Given the description of an element on the screen output the (x, y) to click on. 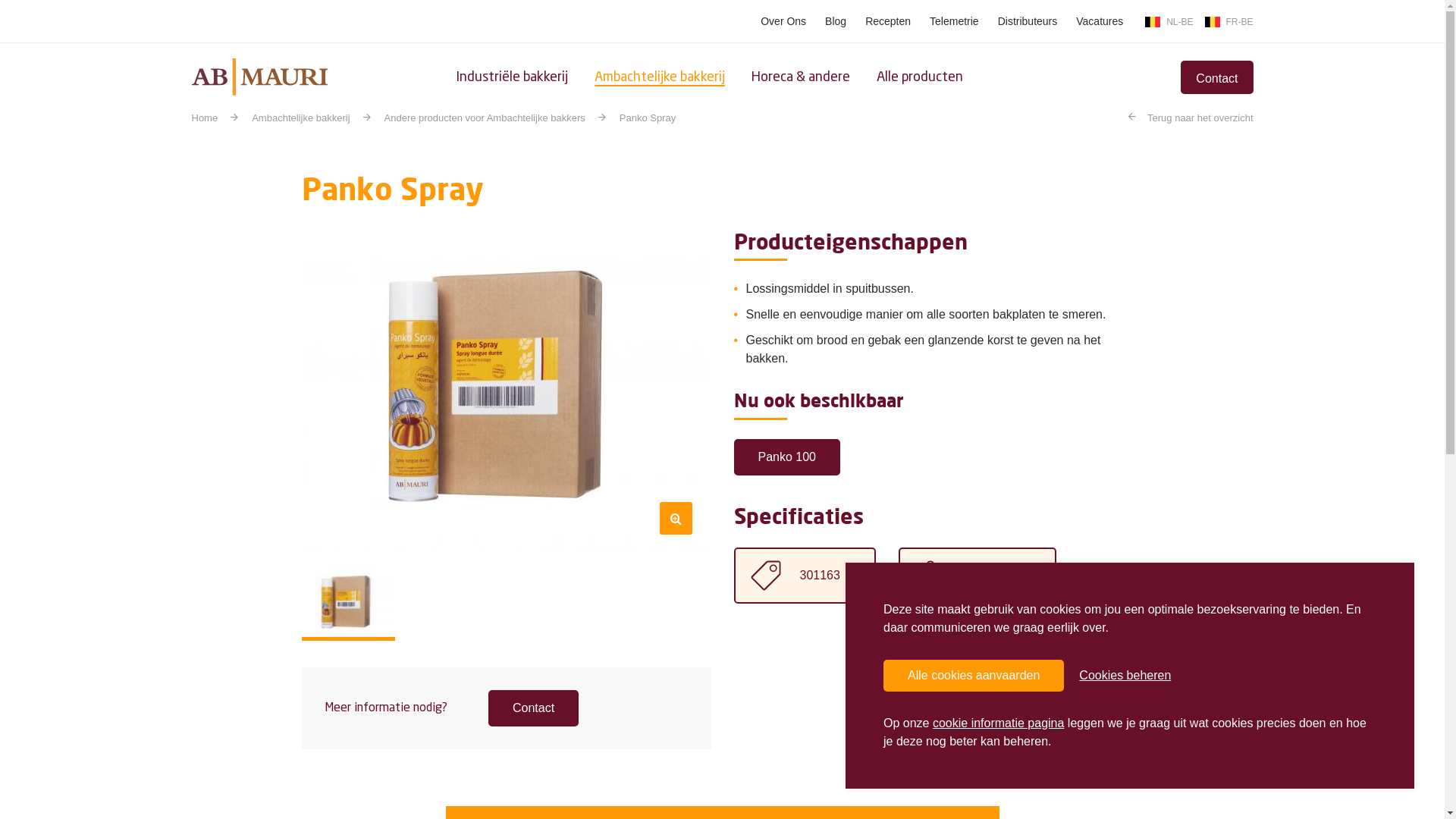
Contact Element type: text (533, 708)
Alle cookies aanvaarden Element type: text (973, 675)
Telemetrie Element type: text (954, 21)
Horeca & andere Element type: text (799, 77)
Terug naar het overzicht Element type: text (1190, 117)
Ambachtelijke bakkerij Element type: text (659, 77)
Distributeurs Element type: text (1027, 21)
Andere producten voor Ambachtelijke bakkers Element type: text (484, 117)
Panko 100 Element type: text (787, 457)
cookie informatie pagina Element type: text (997, 722)
NL-BE Element type: text (1168, 21)
Blog Element type: text (835, 21)
ab_mauri_panko_spray_600_g_6.jpg Element type: hover (348, 602)
Contact Element type: text (1216, 77)
Vacatures Element type: text (1099, 21)
Home Element type: text (204, 117)
Home Element type: hover (259, 74)
ab_mauri_panko_spray_600_g_6.jpg Element type: hover (506, 390)
Over Ons Element type: text (783, 21)
Ambachtelijke bakkerij Element type: text (300, 117)
Alle producten Element type: text (919, 77)
Recepten Element type: text (887, 21)
FR-BE Element type: text (1228, 21)
